Given the description of an element on the screen output the (x, y) to click on. 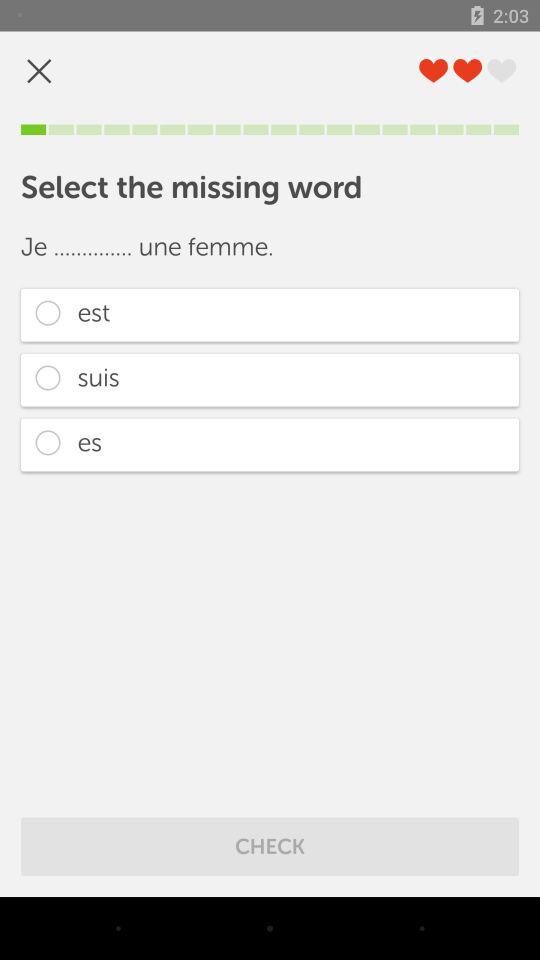
press icon below est icon (270, 379)
